Given the description of an element on the screen output the (x, y) to click on. 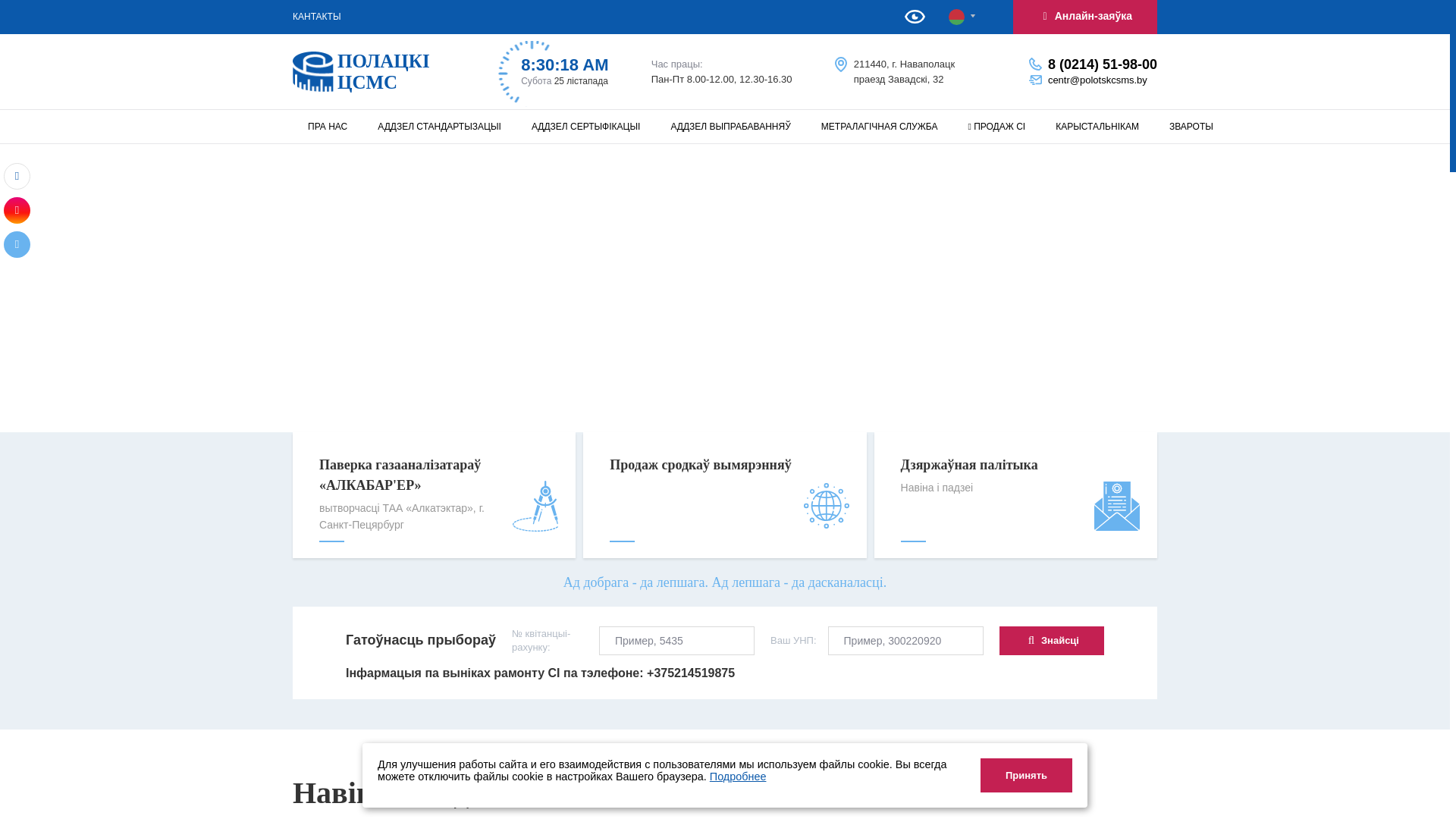
Telegram Element type: hover (16, 244)
Instagram Element type: hover (16, 210)
centr@polotskcsms.by Element type: text (1097, 79)
8 (0214) 51-98-00 Element type: text (1102, 63)
